Given the description of an element on the screen output the (x, y) to click on. 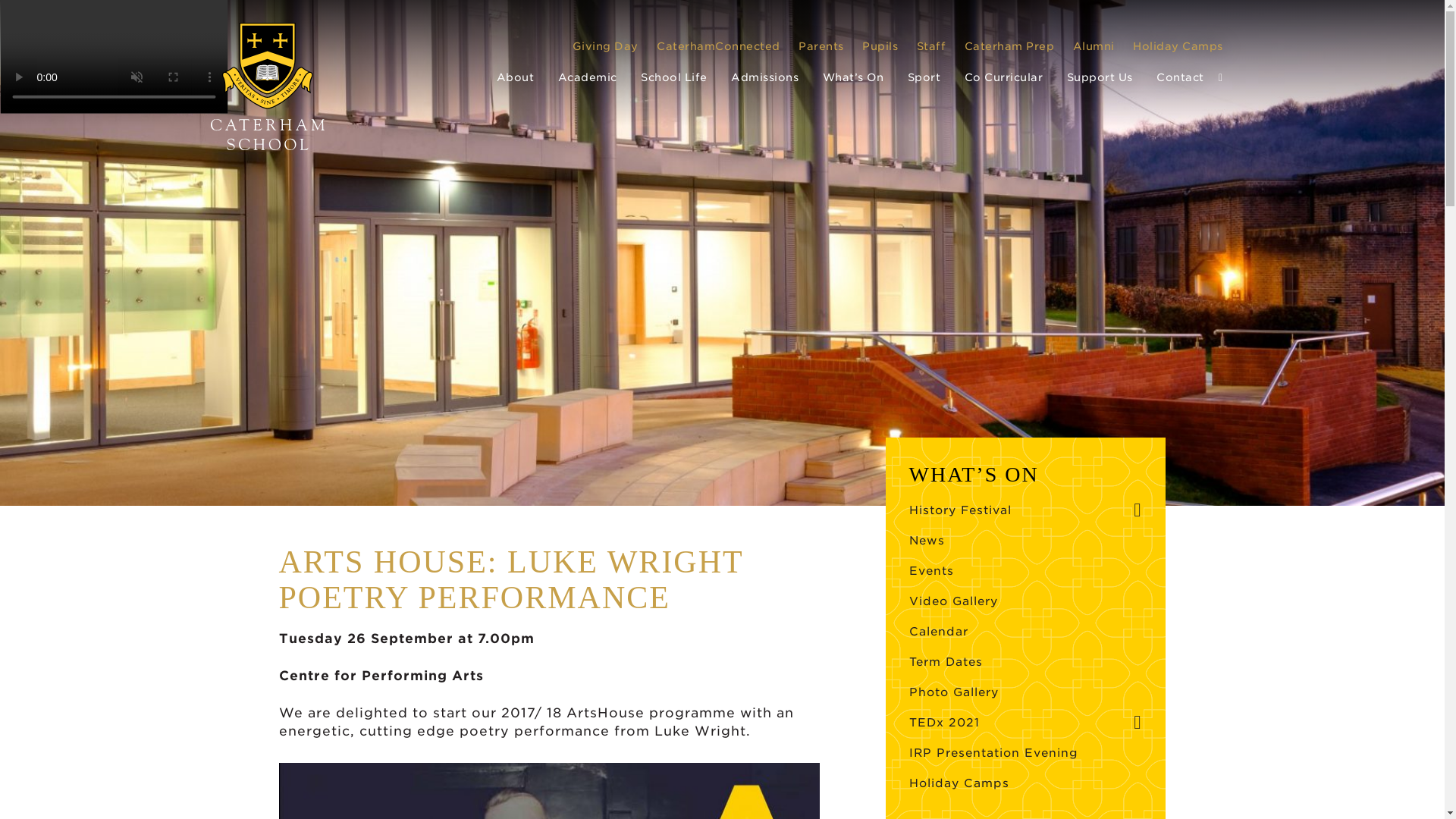
Holiday Camps (1177, 46)
Events (930, 571)
School Life (673, 77)
Sport (923, 77)
Admissions (763, 77)
Support Us (1099, 77)
Pupils (879, 46)
TEDx 2021 (943, 722)
History Festival (959, 510)
Academic (587, 77)
Parents (820, 46)
Co Curricular (1003, 77)
Giving Day (604, 46)
News (925, 540)
Term Dates (944, 662)
